Given the description of an element on the screen output the (x, y) to click on. 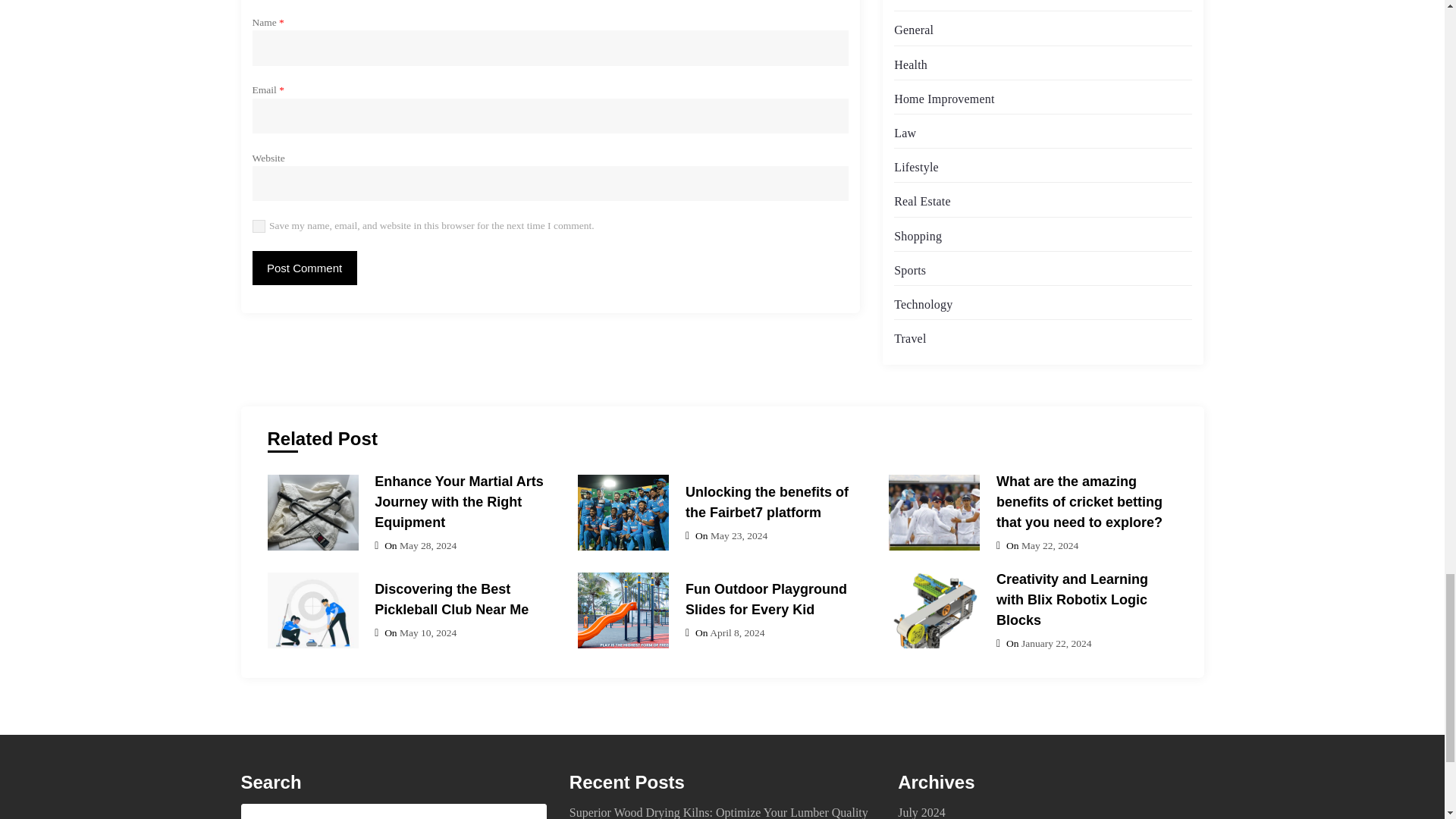
Post Comment (303, 267)
